Given the description of an element on the screen output the (x, y) to click on. 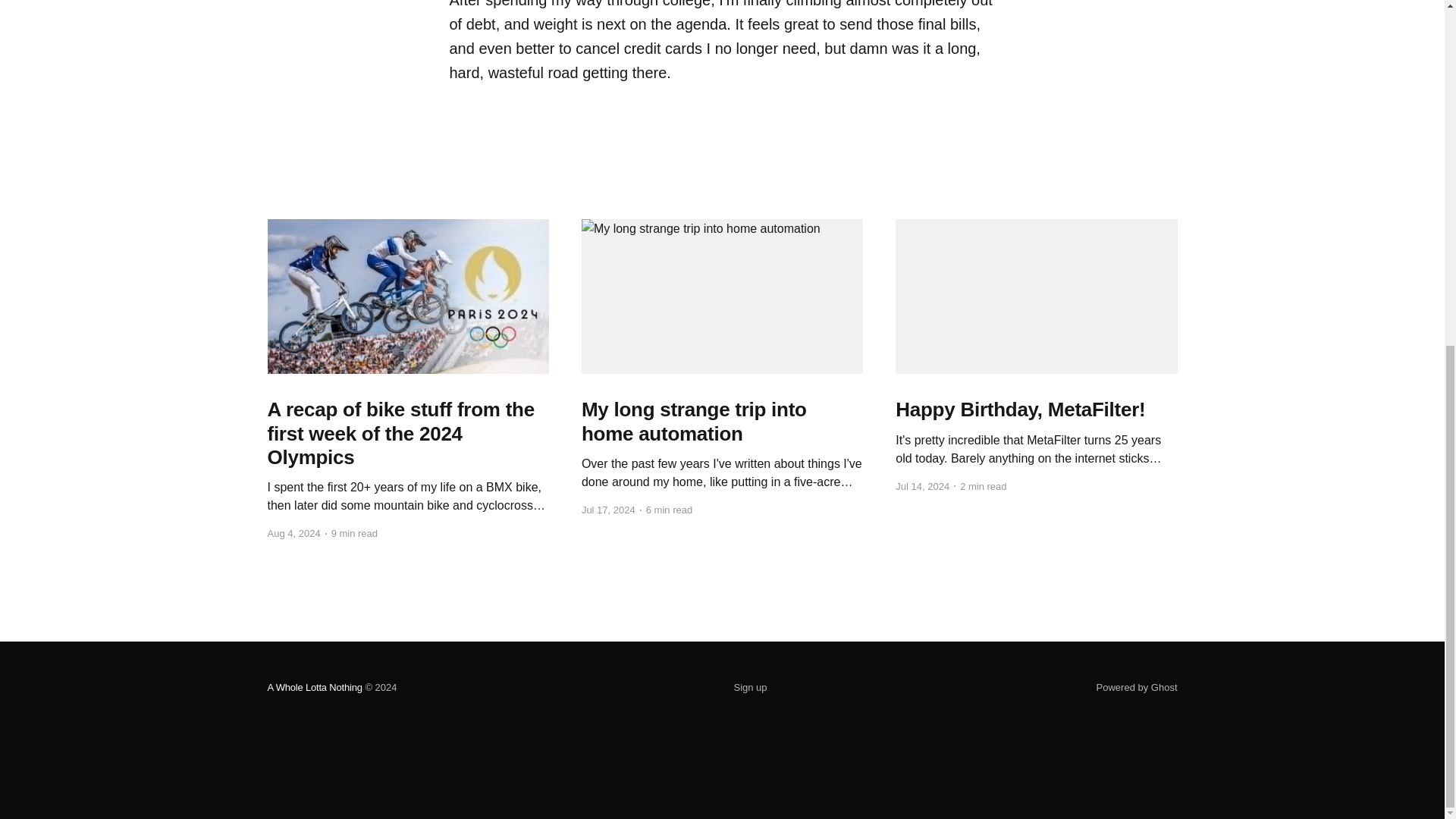
A Whole Lotta Nothing (313, 686)
Sign up (750, 687)
Powered by Ghost (1136, 686)
